Given the description of an element on the screen output the (x, y) to click on. 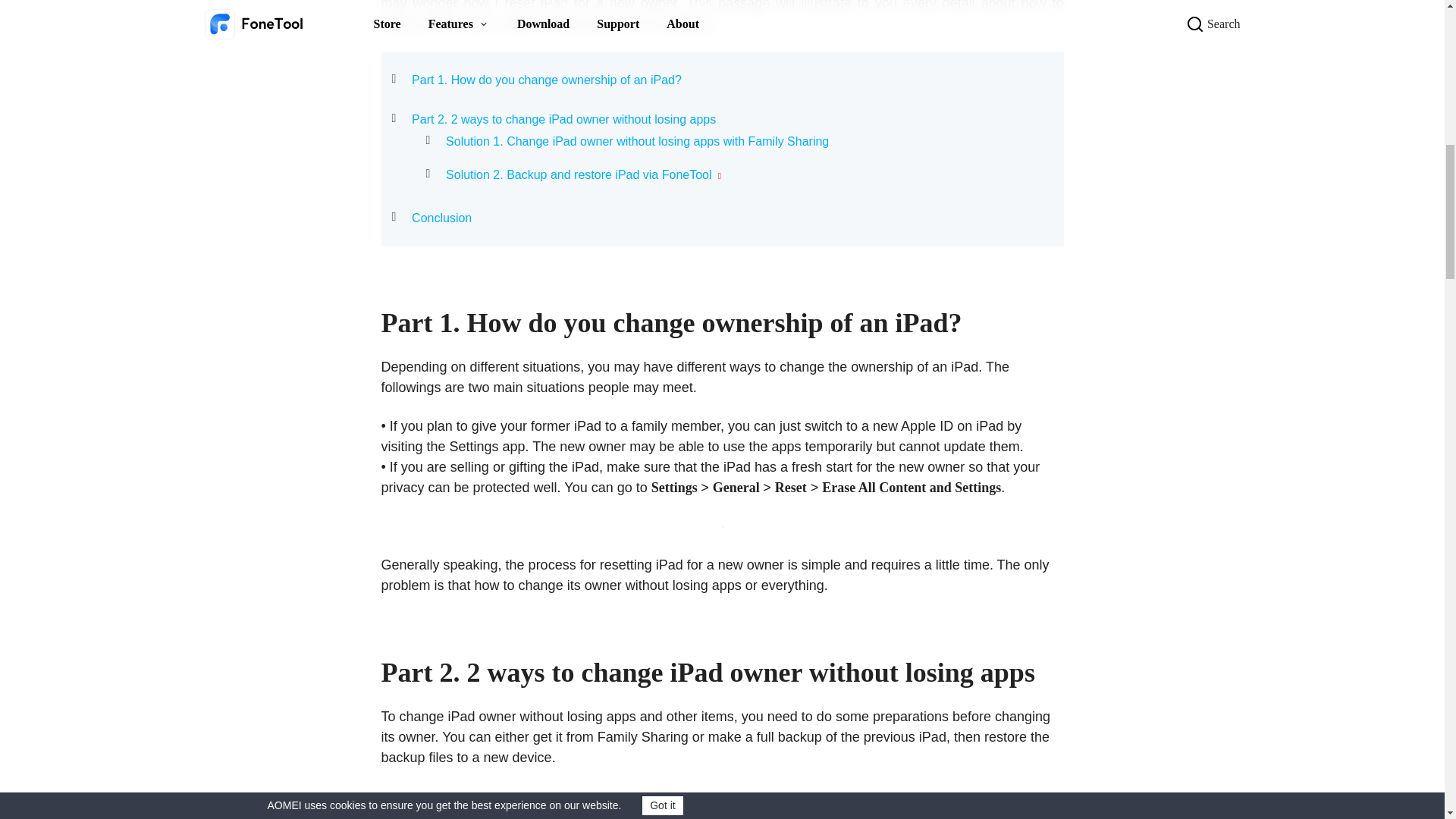
Solution 2. Backup and restore iPad via FoneTool (578, 175)
Conclusion (441, 218)
Part 1. How do you change ownership of an iPad? (546, 80)
Part 2. 2 ways to change iPad owner without losing apps (564, 119)
